Given the description of an element on the screen output the (x, y) to click on. 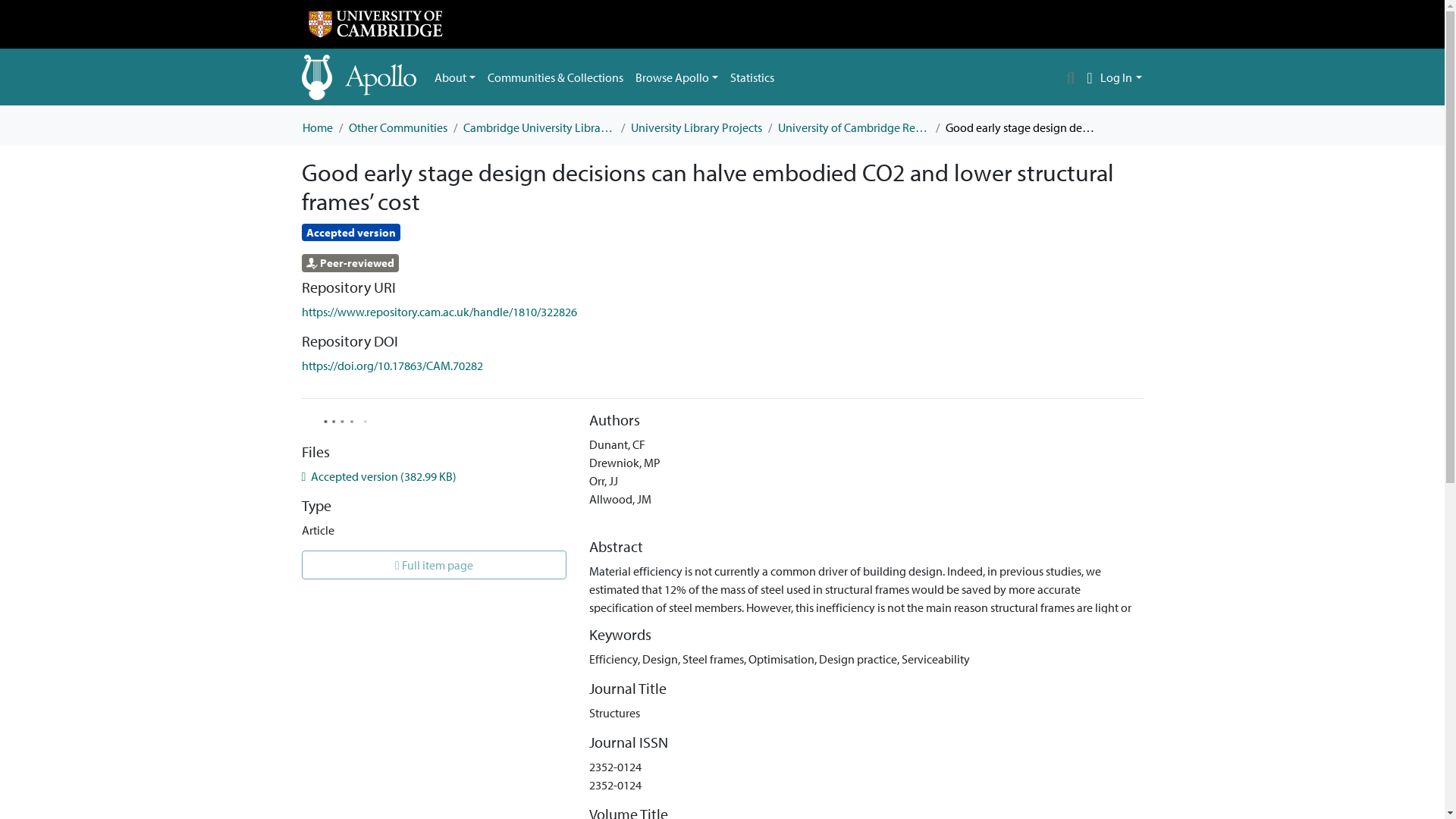
Statistics (751, 77)
Full item page (434, 564)
About (454, 77)
University Library Projects (695, 126)
Browse Apollo (675, 77)
Home (316, 126)
Cambridge University Libraries (538, 126)
Statistics (751, 77)
Log In (1120, 77)
Language switch (1089, 76)
